Given the description of an element on the screen output the (x, y) to click on. 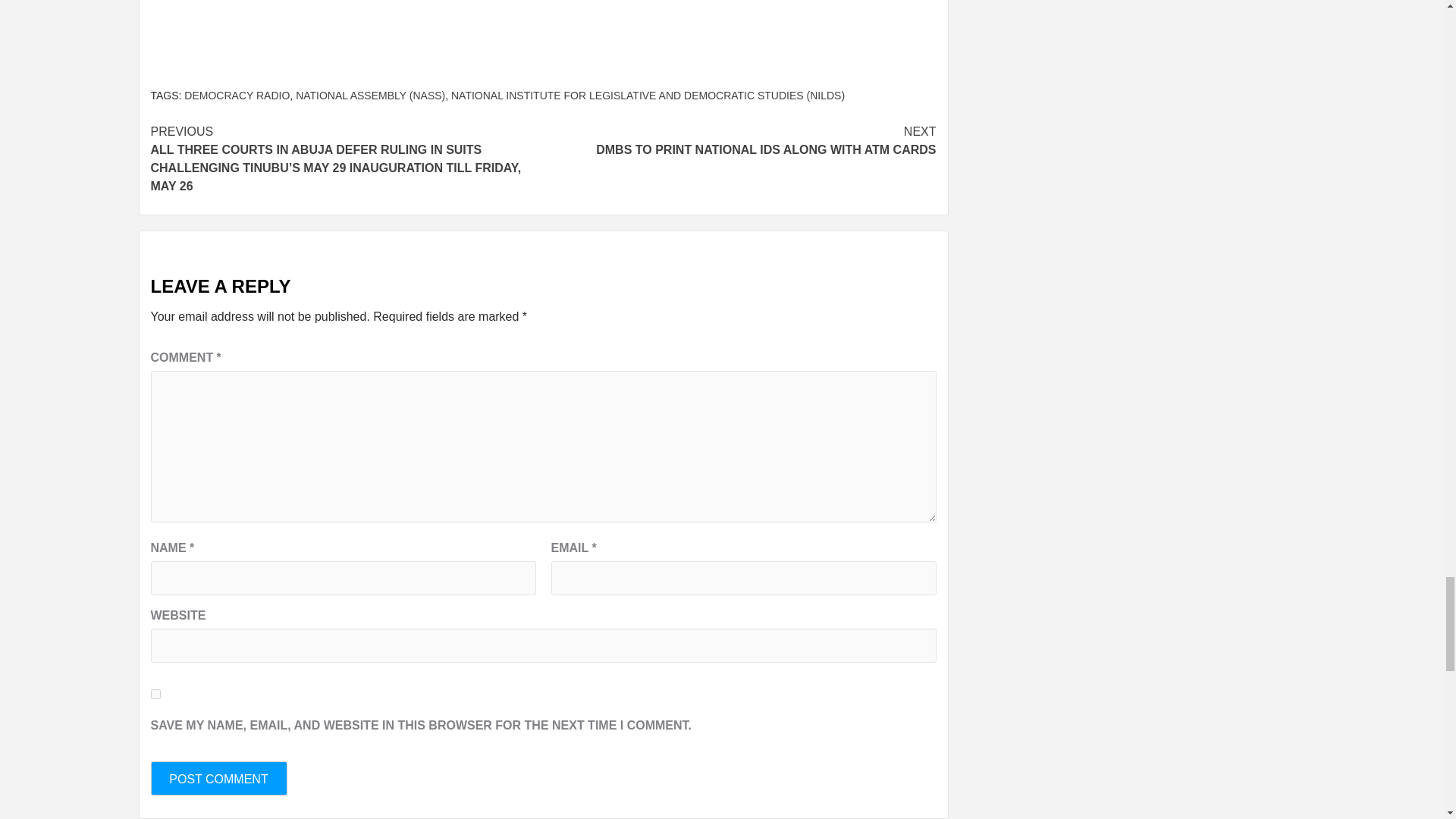
Post Comment (217, 778)
DEMOCRACY RADIO (236, 95)
Post Comment (217, 778)
